Given the description of an element on the screen output the (x, y) to click on. 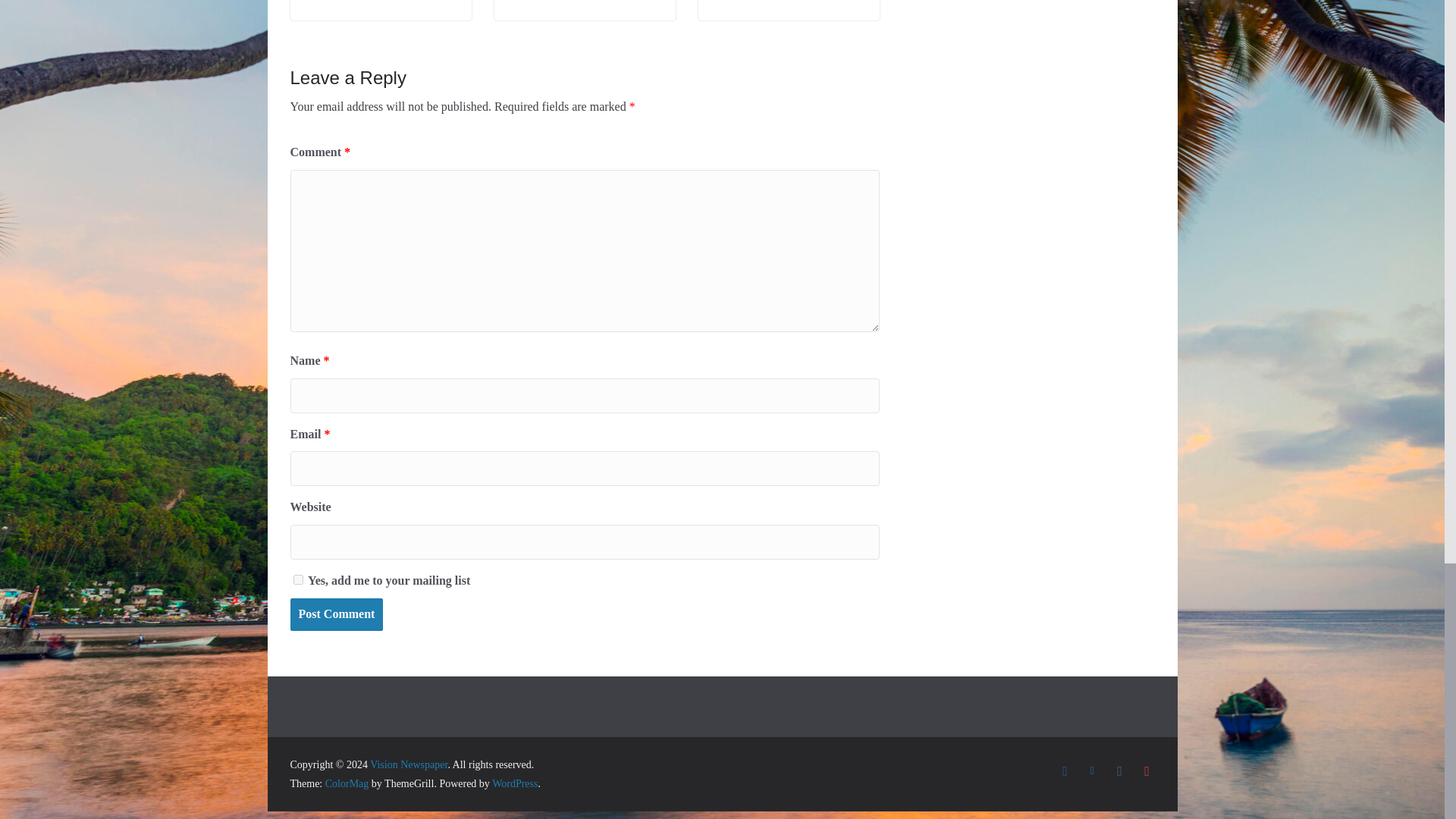
1 (297, 579)
Post Comment (335, 614)
Post Comment (335, 614)
